Given the description of an element on the screen output the (x, y) to click on. 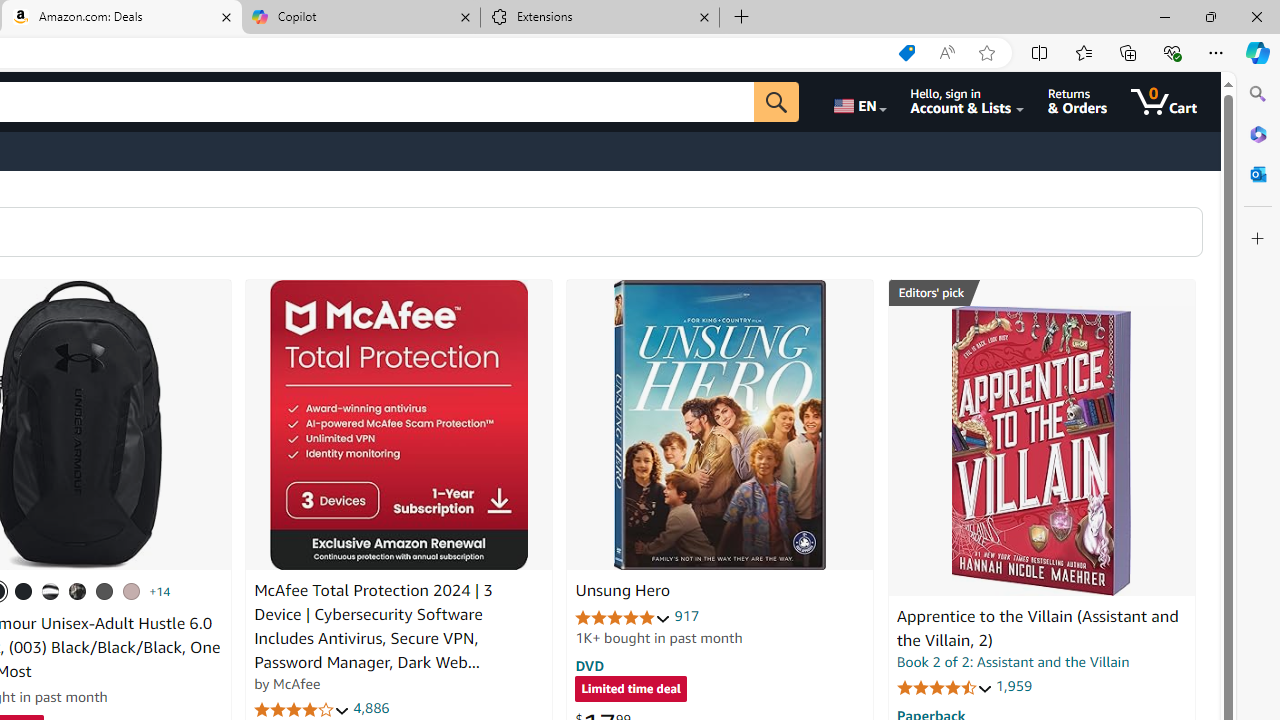
Returns & Orders (1077, 101)
Extensions (600, 17)
(002) Black / Black / White (51, 591)
1,959 (1013, 686)
4.9 out of 5 stars (623, 616)
4.1 out of 5 stars (301, 709)
Shopping in Microsoft Edge (906, 53)
4,886 (371, 708)
